Given the description of an element on the screen output the (x, y) to click on. 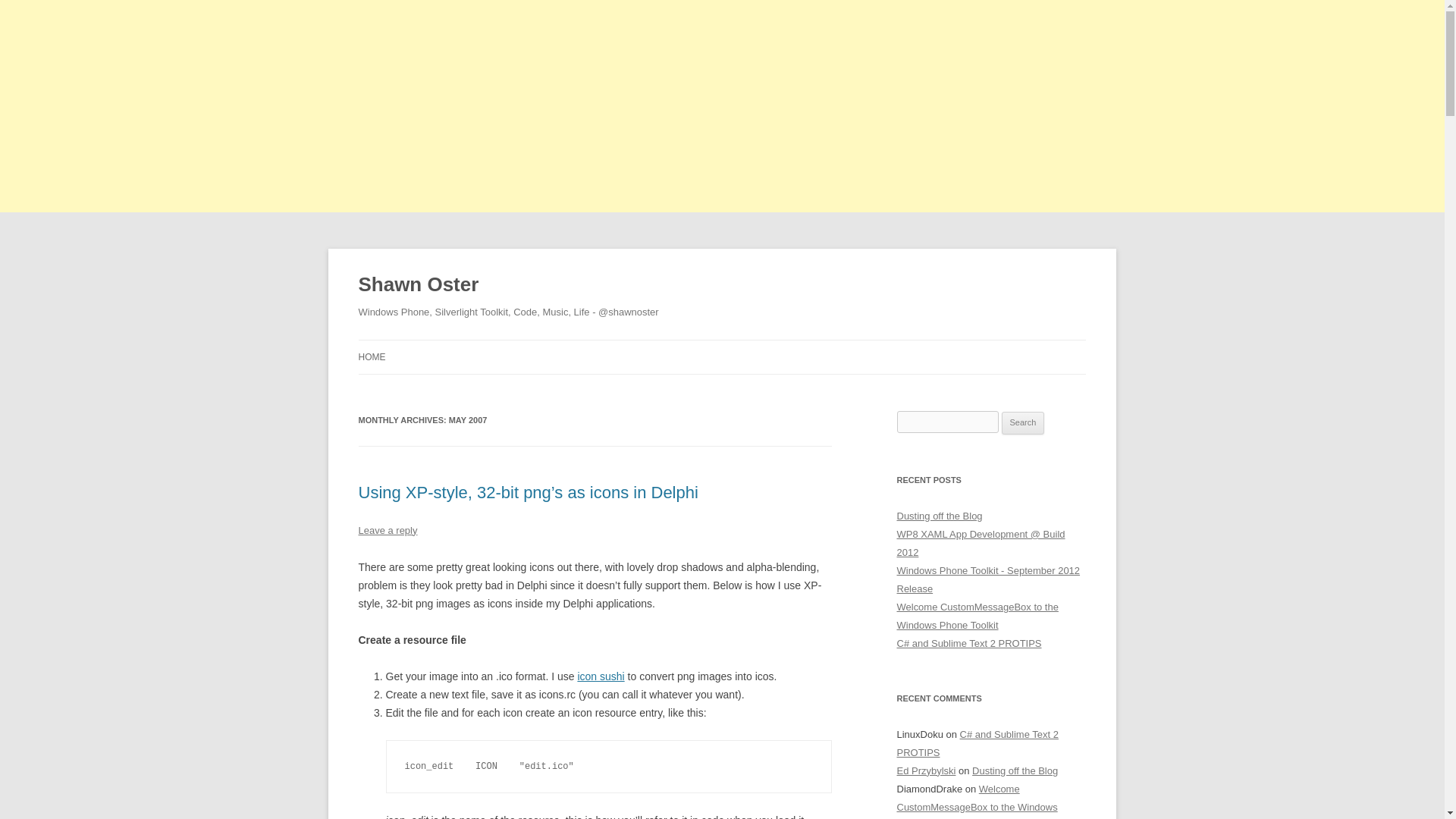
Search (1023, 422)
Leave a reply (387, 530)
Shawn Oster (418, 284)
Dusting off the Blog (938, 515)
Shawn Oster (418, 284)
Search (1023, 422)
Skip to content (757, 344)
Skip to content (757, 344)
icon sushi (600, 676)
HOME (371, 356)
